Given the description of an element on the screen output the (x, y) to click on. 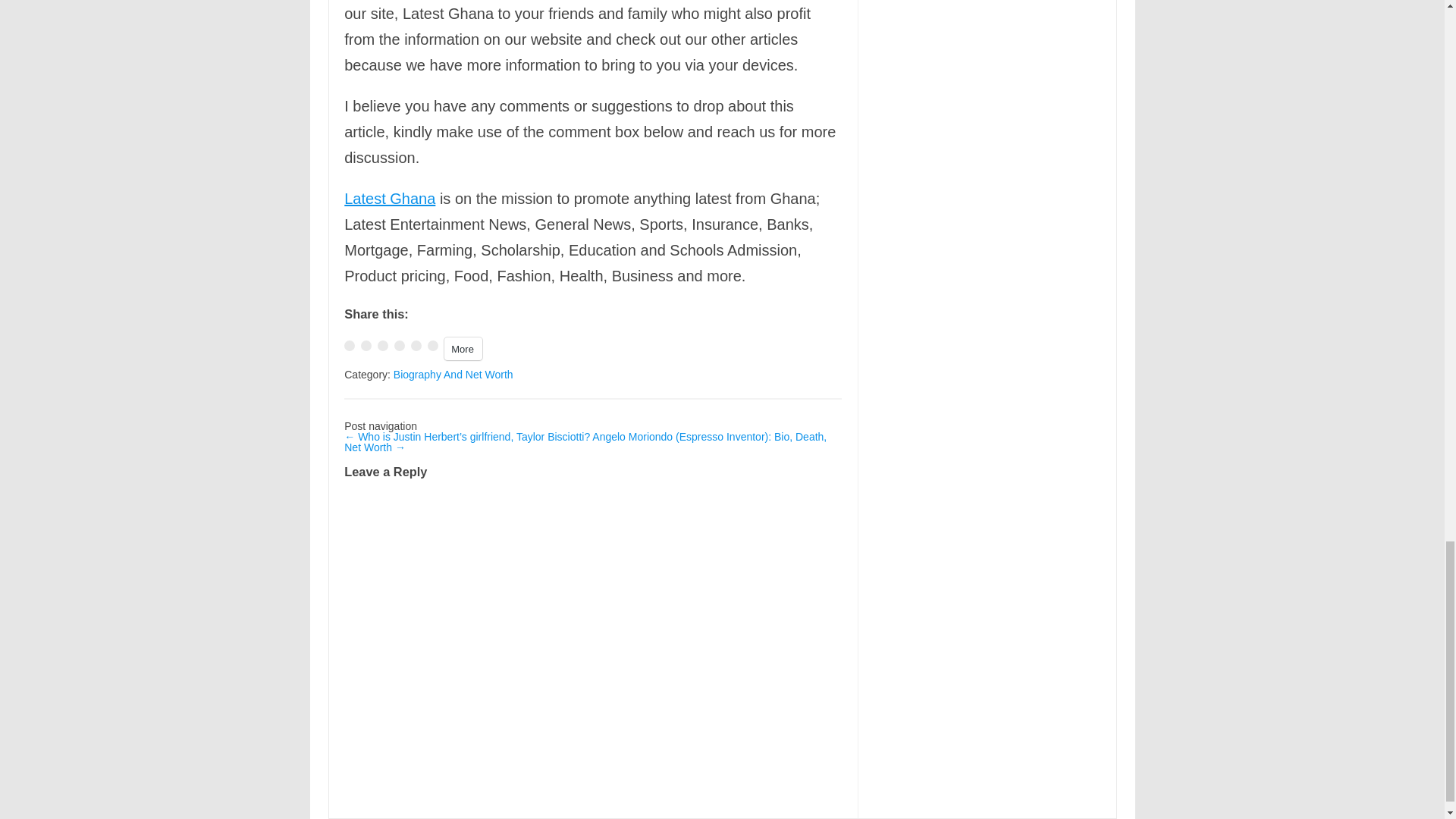
Click to share on WhatsApp (382, 345)
More (462, 348)
Click to share on Reddit (433, 345)
Latest Ghana (389, 198)
Click to share on Telegram (399, 345)
Click to share on Facebook (349, 345)
Biography And Net Worth (453, 374)
Click to share on Twitter (366, 345)
Click to share on Pinterest (416, 345)
